Given the description of an element on the screen output the (x, y) to click on. 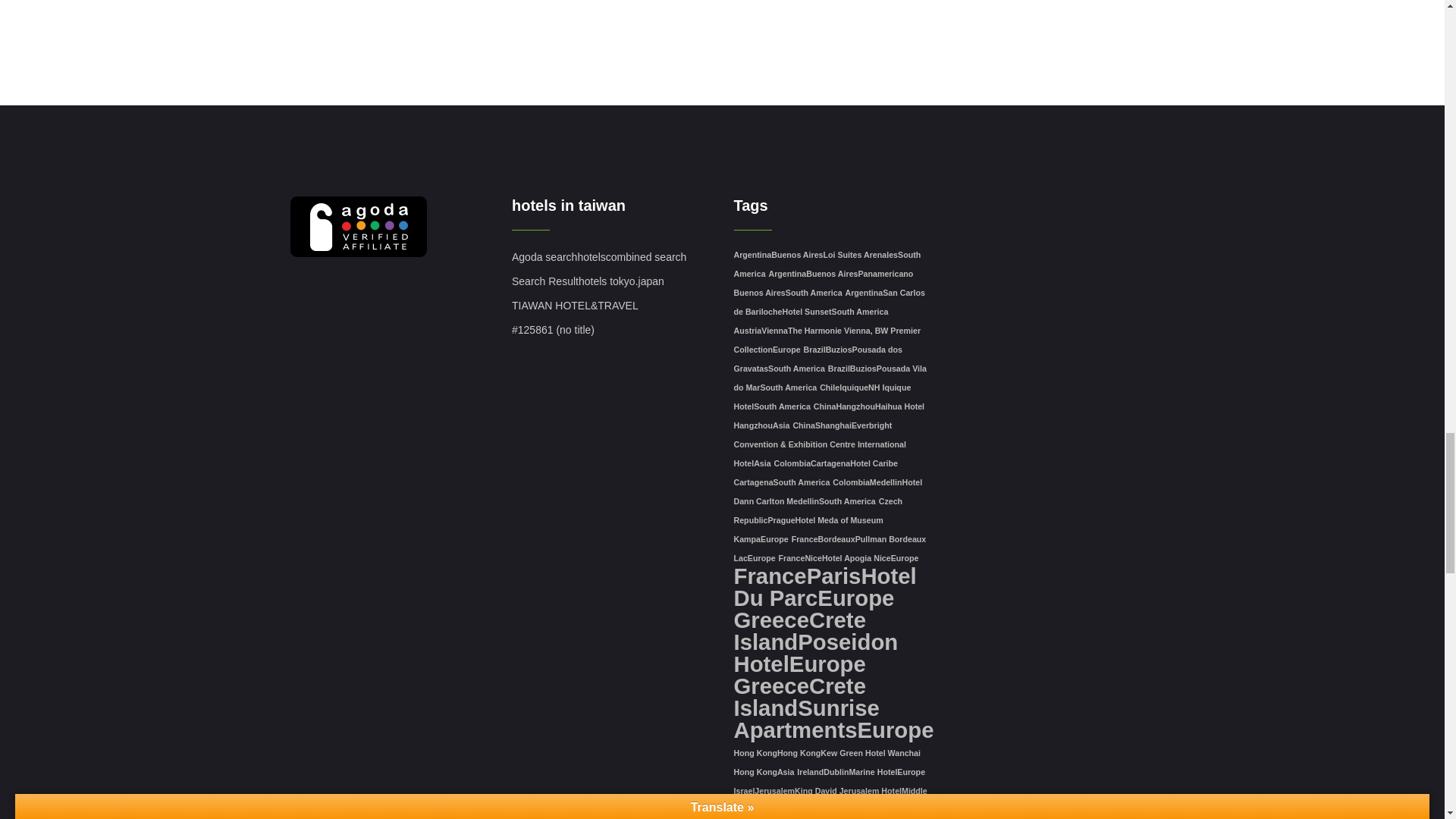
Agoda search (544, 256)
